Given the description of an element on the screen output the (x, y) to click on. 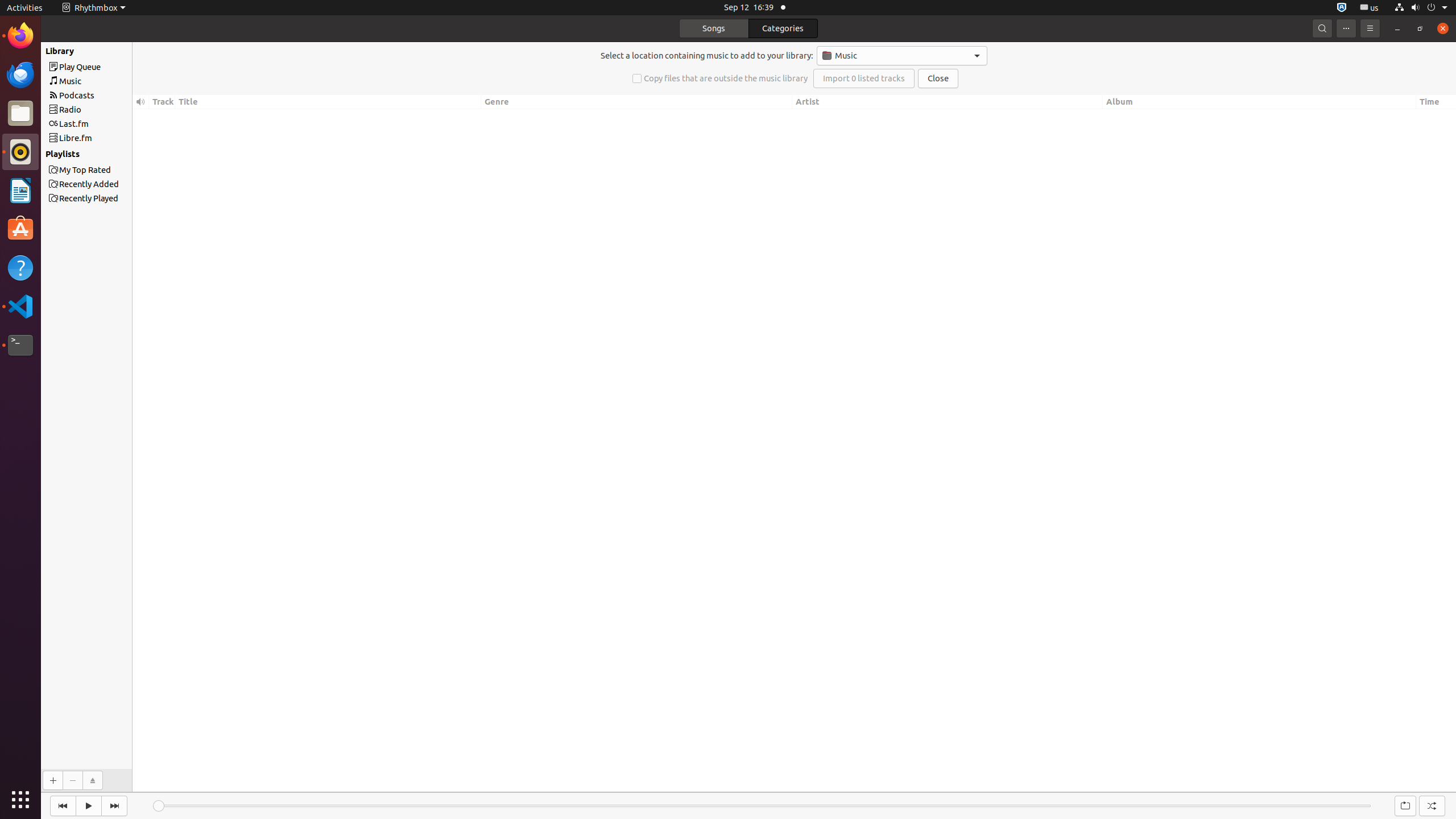
Radio Element type: table-cell (106, 109)
Close Element type: push-button (937, 78)
My Top Rated Element type: table-cell (106, 169)
Genre Element type: table-column-header (636, 101)
